Given the description of an element on the screen output the (x, y) to click on. 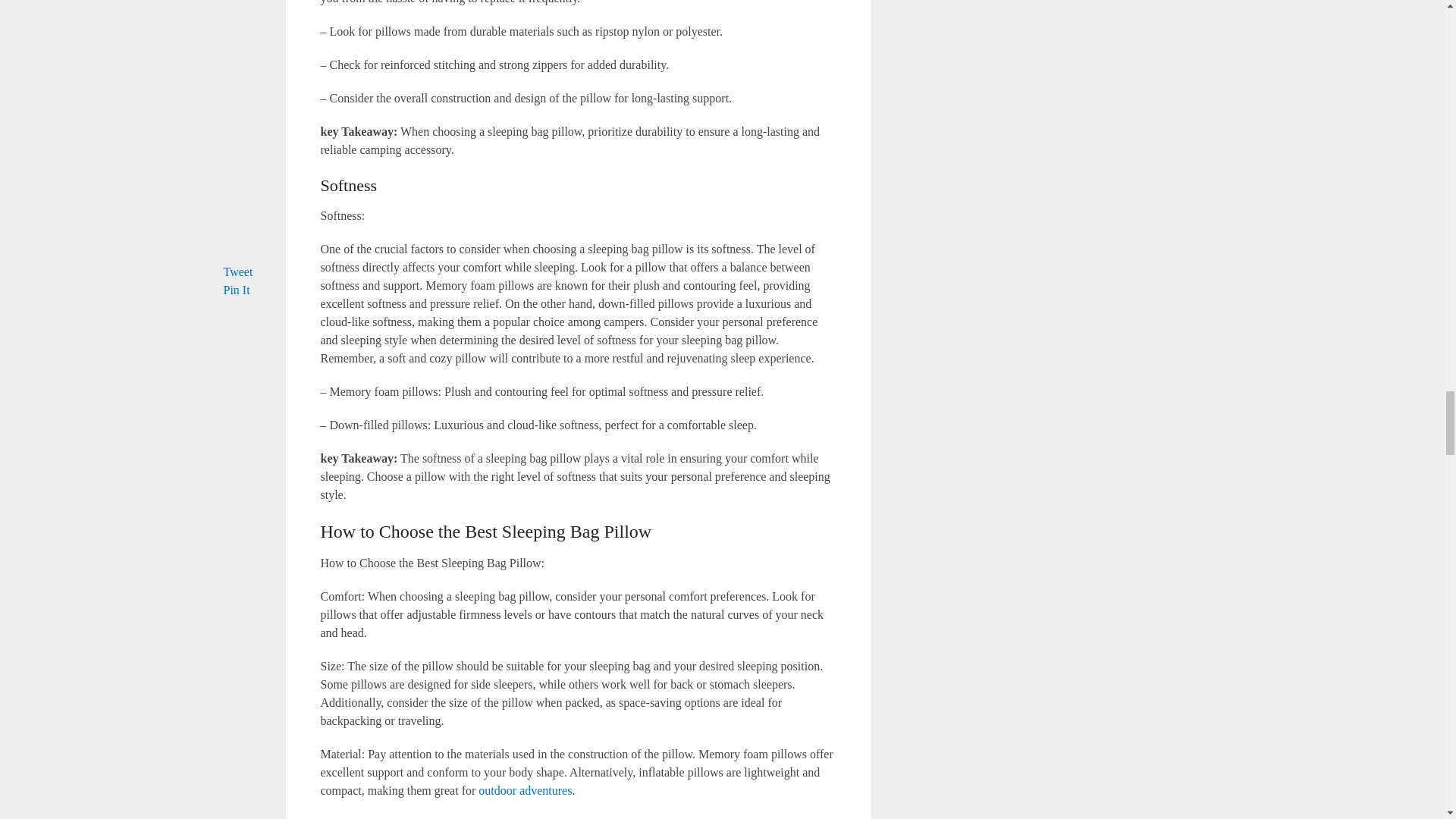
outdoor adventures (525, 789)
